Given the description of an element on the screen output the (x, y) to click on. 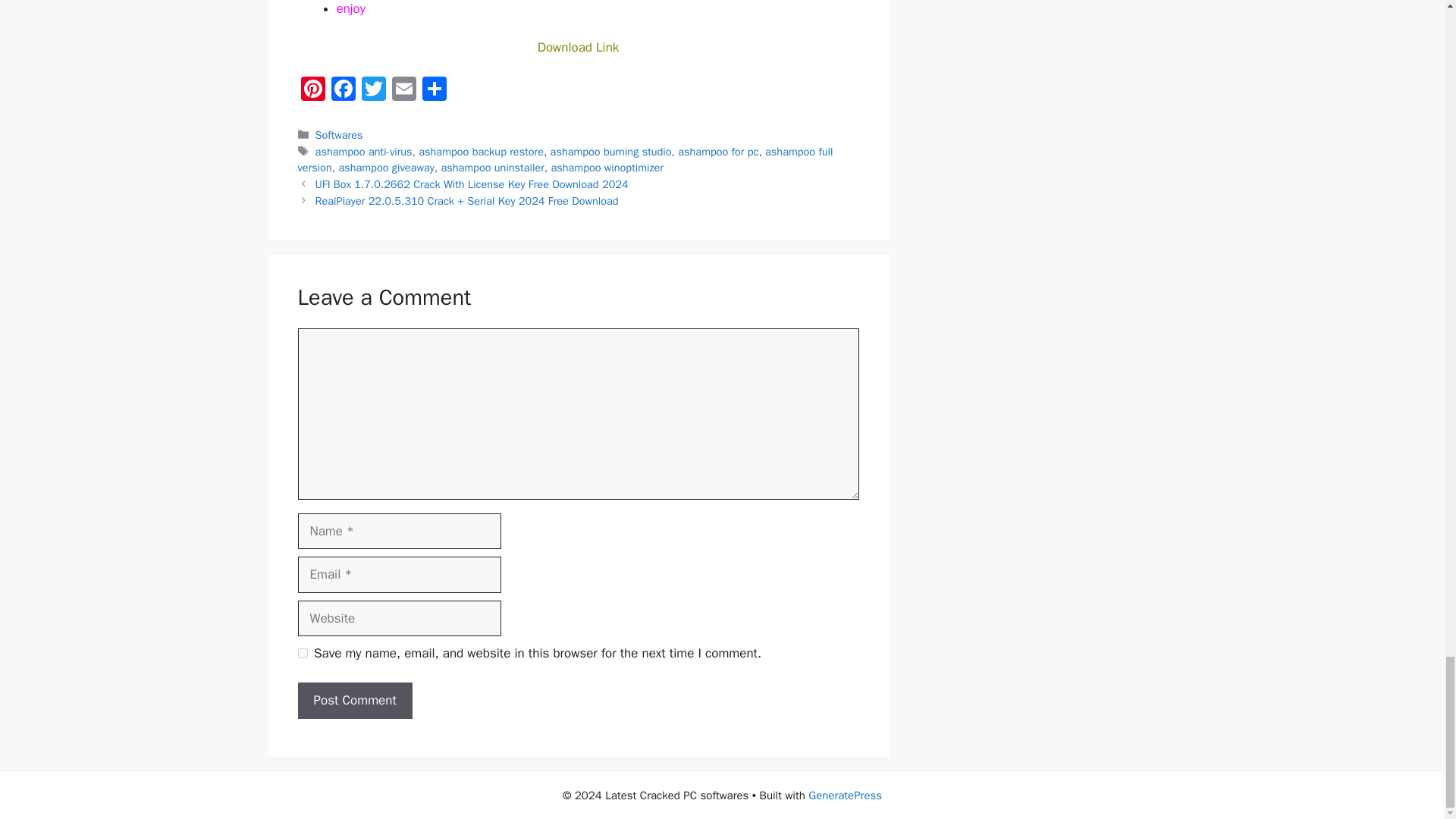
ashampoo full version (564, 159)
ashampoo backup restore (481, 151)
Facebook (342, 90)
ashampoo anti-virus (363, 151)
ashampoo burning studio (610, 151)
Share (433, 90)
Pinterest (312, 90)
Post Comment (354, 700)
Softwares (338, 134)
yes (302, 653)
Twitter (373, 90)
Download Link (578, 47)
enjoy (350, 8)
ashampoo giveaway (385, 167)
ashampoo for pc (718, 151)
